Given the description of an element on the screen output the (x, y) to click on. 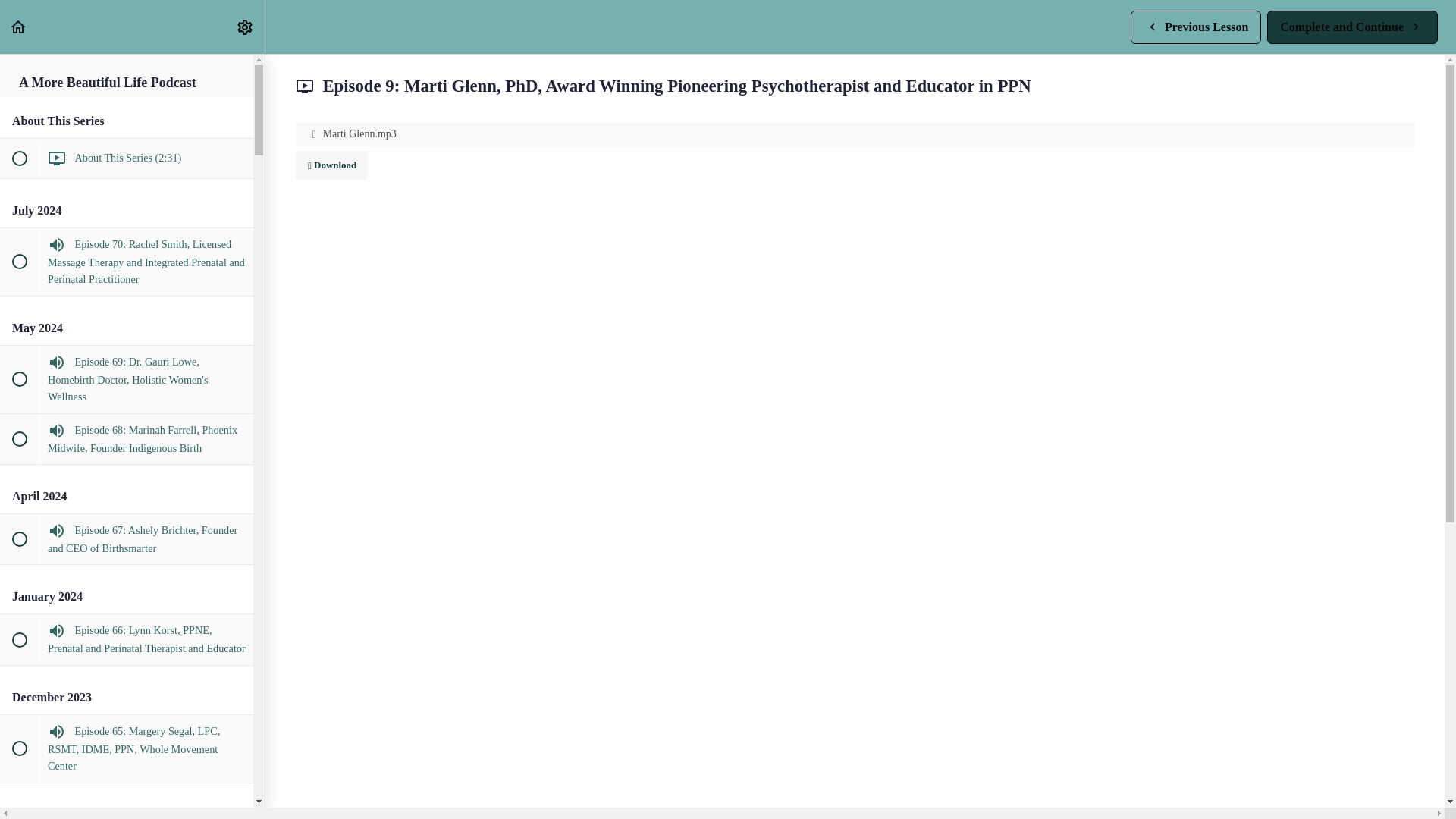
Back to course curriculum (1352, 26)
  Previous Lesson (17, 26)
Settings Menu (1195, 26)
